Given the description of an element on the screen output the (x, y) to click on. 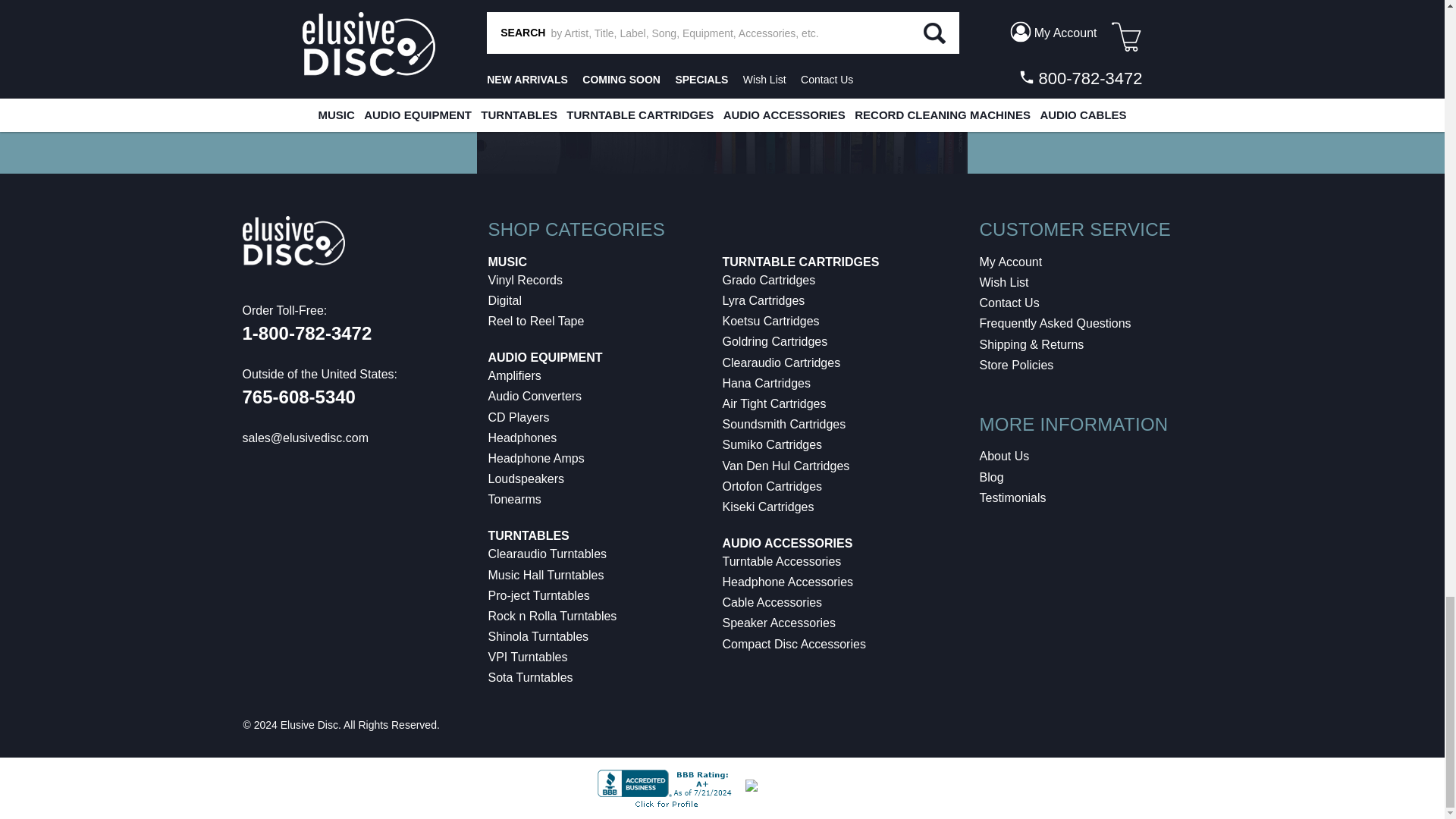
CD Players (518, 417)
Audio Converter (534, 395)
Tonearm (514, 499)
Reel to Reel Tape (536, 320)
Digital (504, 300)
Vinyl Records (524, 279)
Headphones (522, 437)
Headphone Amp (536, 458)
Sign Up (1323, 77)
Loudspeakers (525, 478)
Amplifiers (514, 375)
